Given the description of an element on the screen output the (x, y) to click on. 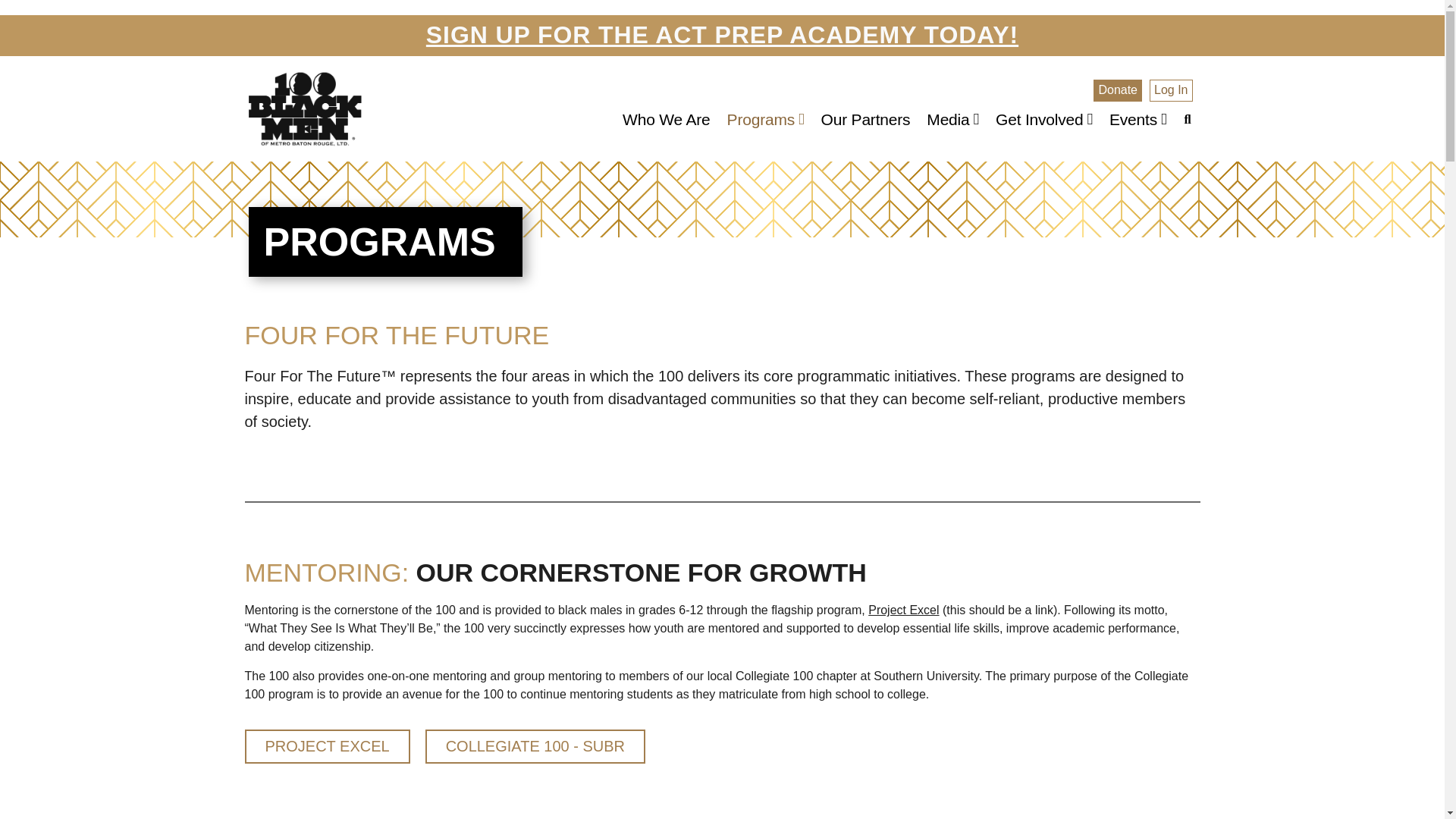
Events (1137, 119)
Programs (765, 119)
Media (952, 119)
Our Partners (866, 119)
Get Involved (1043, 119)
Log In (1171, 90)
Who We Are (666, 119)
SIGN UP FOR THE ACT PREP ACADEMY TODAY! (721, 34)
Donate (1117, 90)
